Given the description of an element on the screen output the (x, y) to click on. 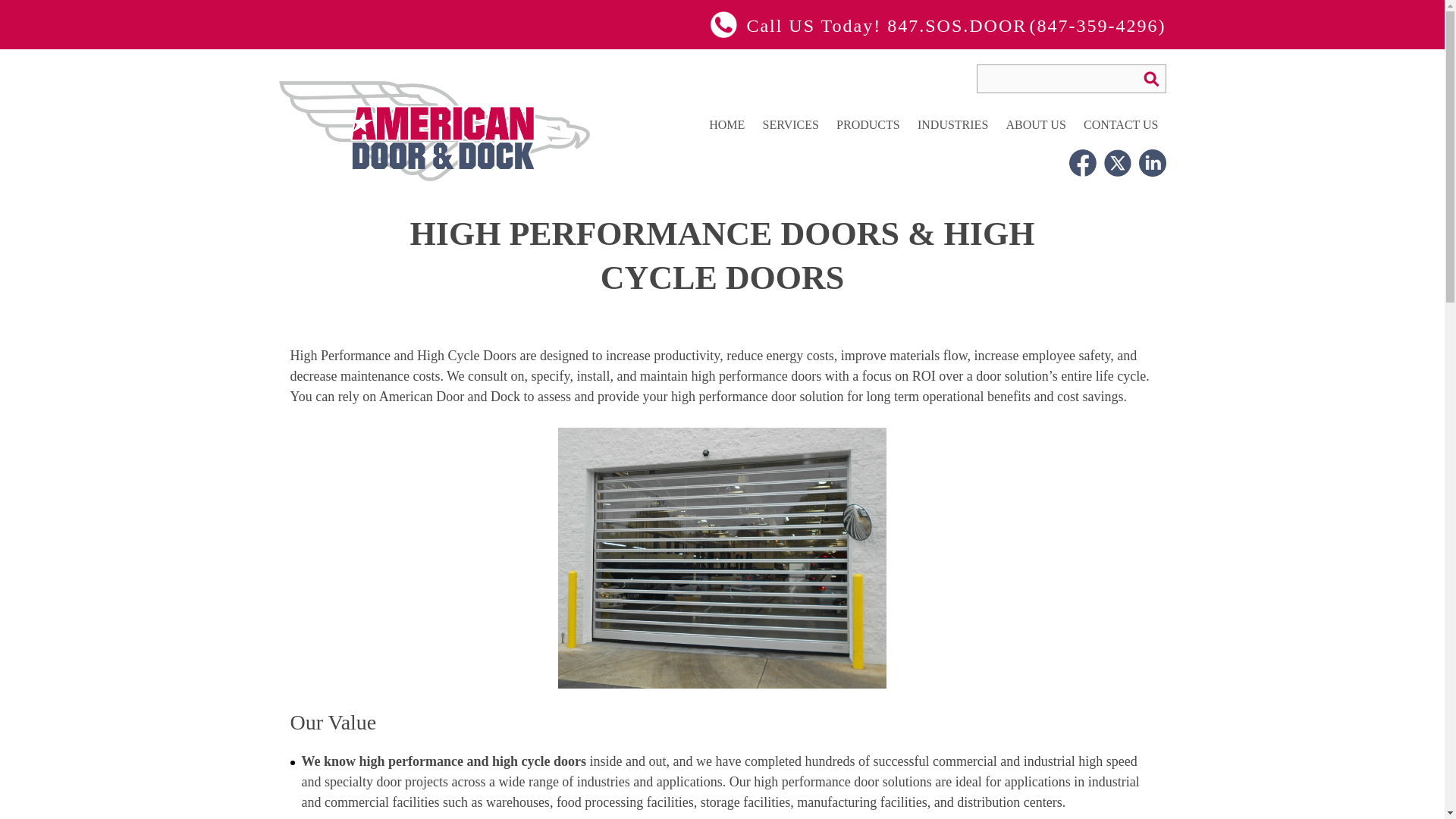
PRODUCTS (867, 124)
INDUSTRIES (952, 124)
HOME (726, 124)
ABOUT US (1035, 124)
SERVICES (790, 124)
Call US Today! 847.SOS.DOOR (868, 25)
CONTACT US (1120, 124)
